Given the description of an element on the screen output the (x, y) to click on. 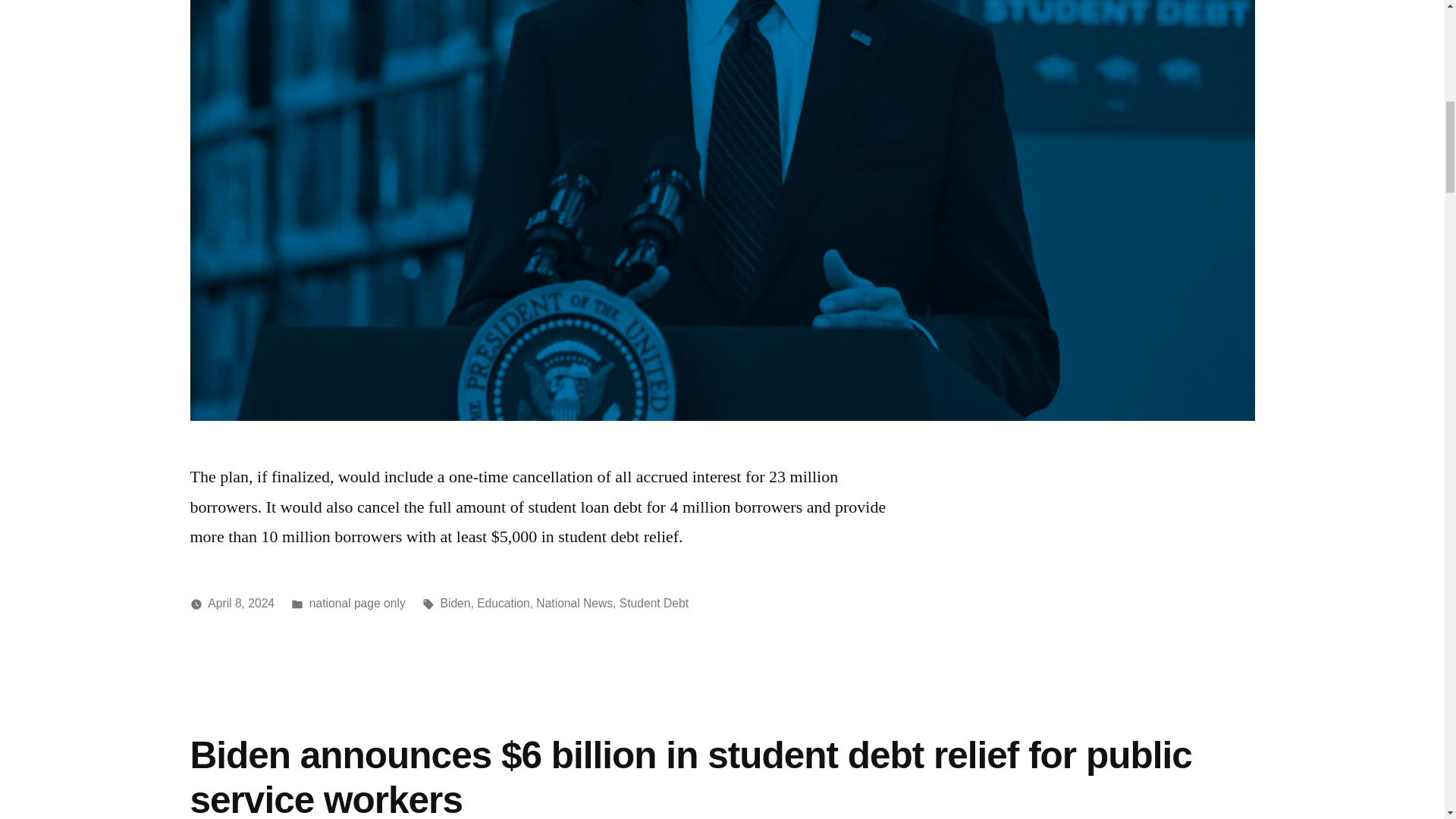
Student Debt (654, 603)
Biden (455, 603)
Education (503, 603)
April 8, 2024 (241, 603)
National News (573, 603)
national page only (357, 603)
